Given the description of an element on the screen output the (x, y) to click on. 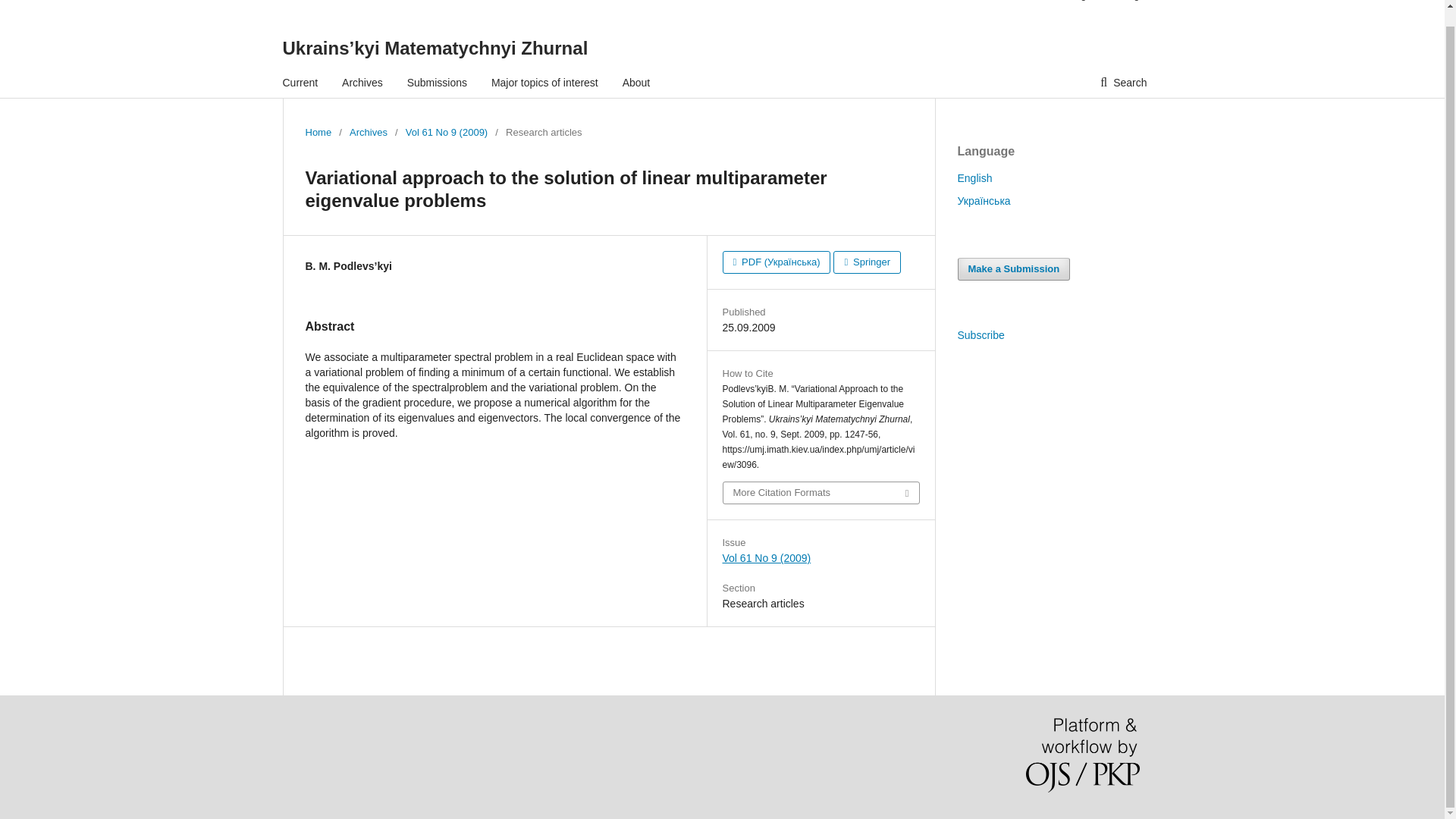
Home (317, 132)
Register (1086, 3)
Springer (866, 261)
About (636, 82)
Major topics of interest (545, 82)
English (973, 177)
Login (1131, 3)
Archives (368, 132)
Submissions (437, 82)
More Citation Formats (820, 492)
Archives (362, 82)
Make a Submission (1013, 268)
Subscribe (980, 335)
Current (299, 82)
Search (1122, 82)
